Given the description of an element on the screen output the (x, y) to click on. 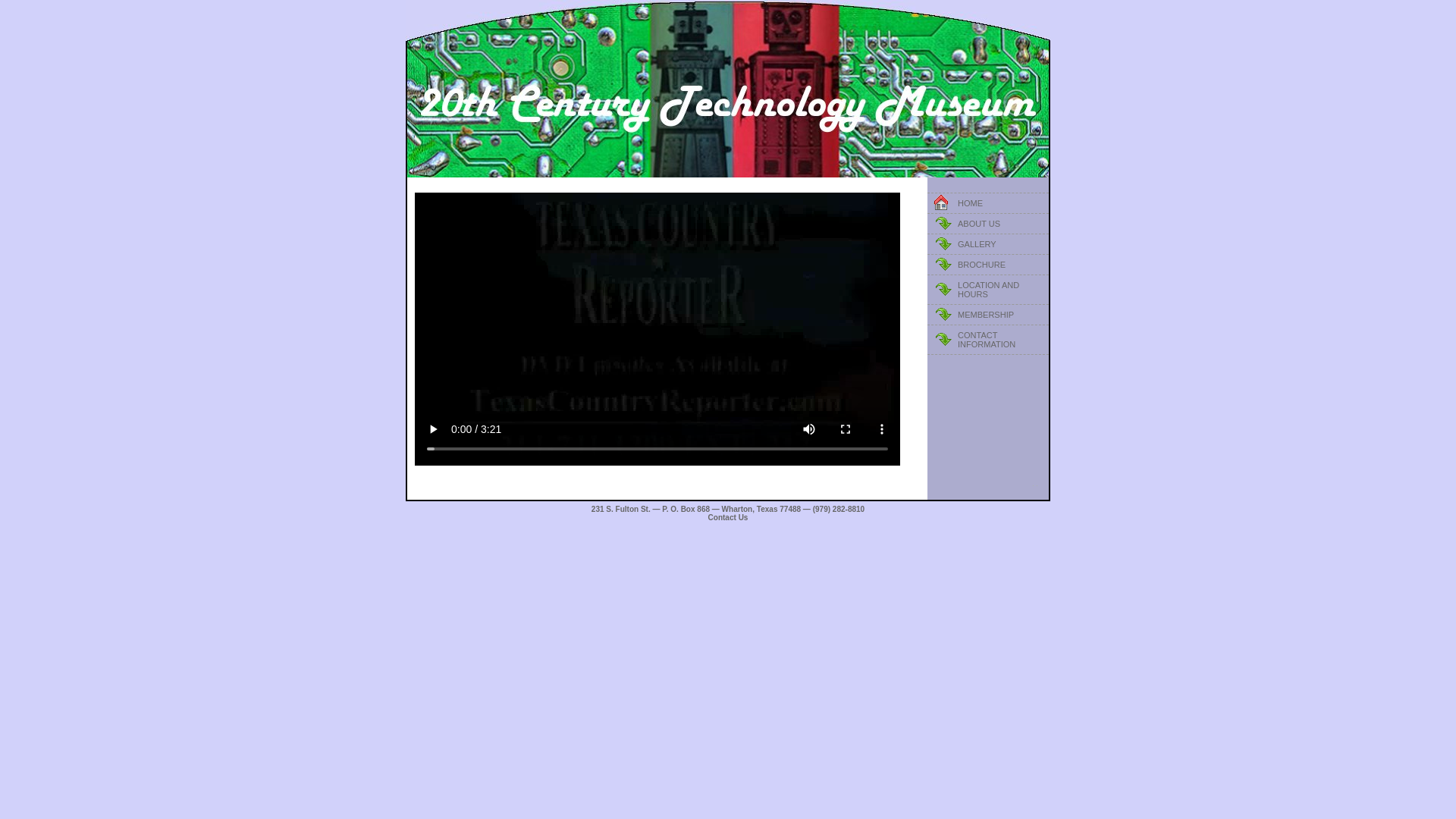
LOCATION AND HOURS Element type: text (987, 289)
MEMBERSHIP Element type: text (987, 314)
CONTACT INFORMATION Element type: text (987, 339)
ABOUT US Element type: text (987, 223)
BROCHURE Element type: text (987, 264)
HOME Element type: text (987, 203)
Contact Us Element type: text (728, 517)
GALLERY Element type: text (987, 244)
